Given the description of an element on the screen output the (x, y) to click on. 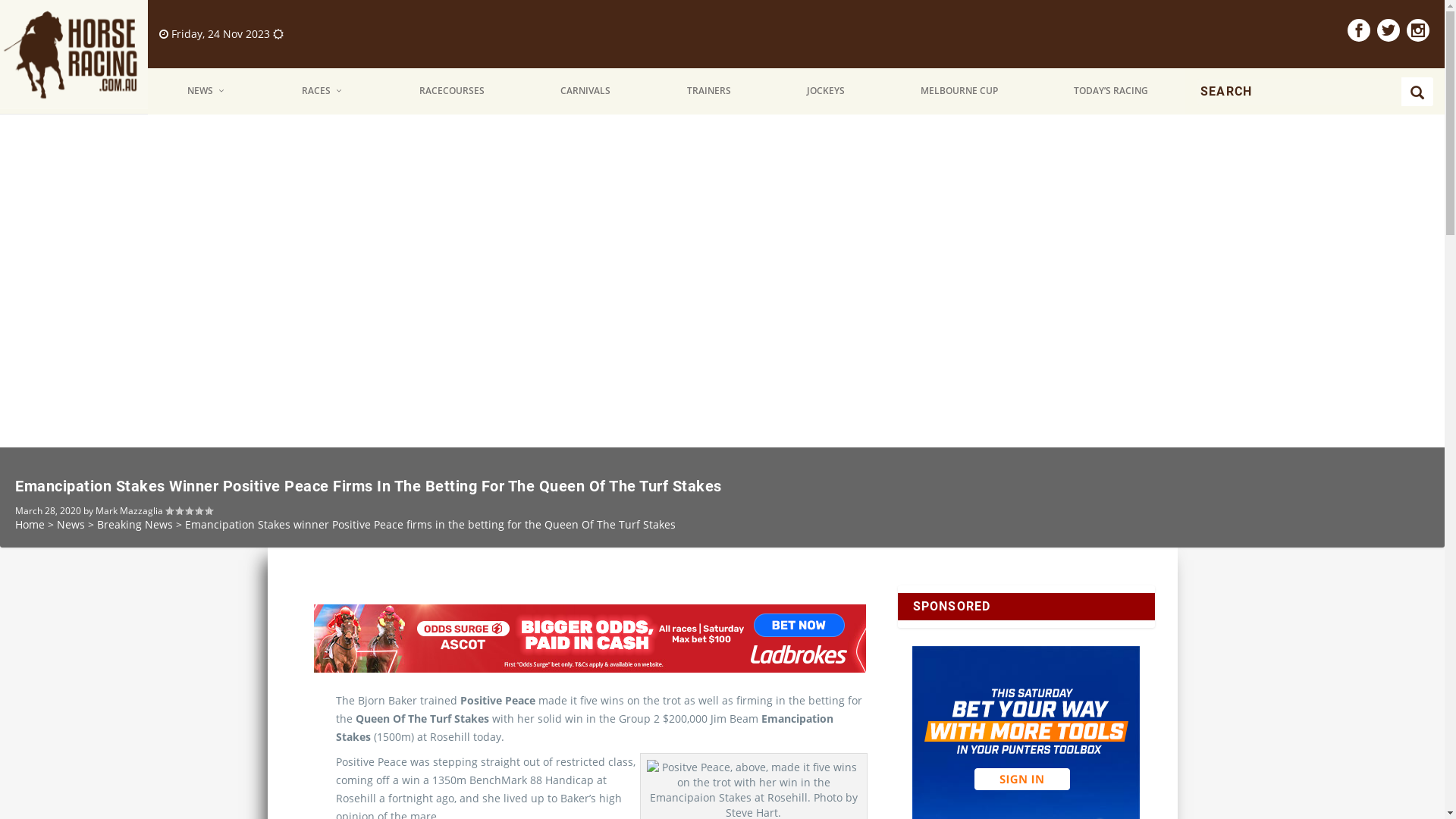
RACECOURSES Element type: text (451, 90)
Home Element type: text (29, 524)
CARNIVALS Element type: text (586, 90)
MELBOURNE CUP Element type: text (960, 90)
RACES Element type: text (322, 90)
News Element type: text (70, 524)
Mark Mazzaglia Element type: text (129, 510)
TRAINERS Element type: text (709, 90)
advertisement Element type: hover (589, 638)
Sunny Element type: hover (278, 33)
Rating: 0.00 Element type: hover (188, 510)
Breaking News Element type: text (134, 524)
JOCKEYS Element type: text (826, 90)
Search for: Element type: hover (1299, 91)
NEWS Element type: text (206, 90)
